Given the description of an element on the screen output the (x, y) to click on. 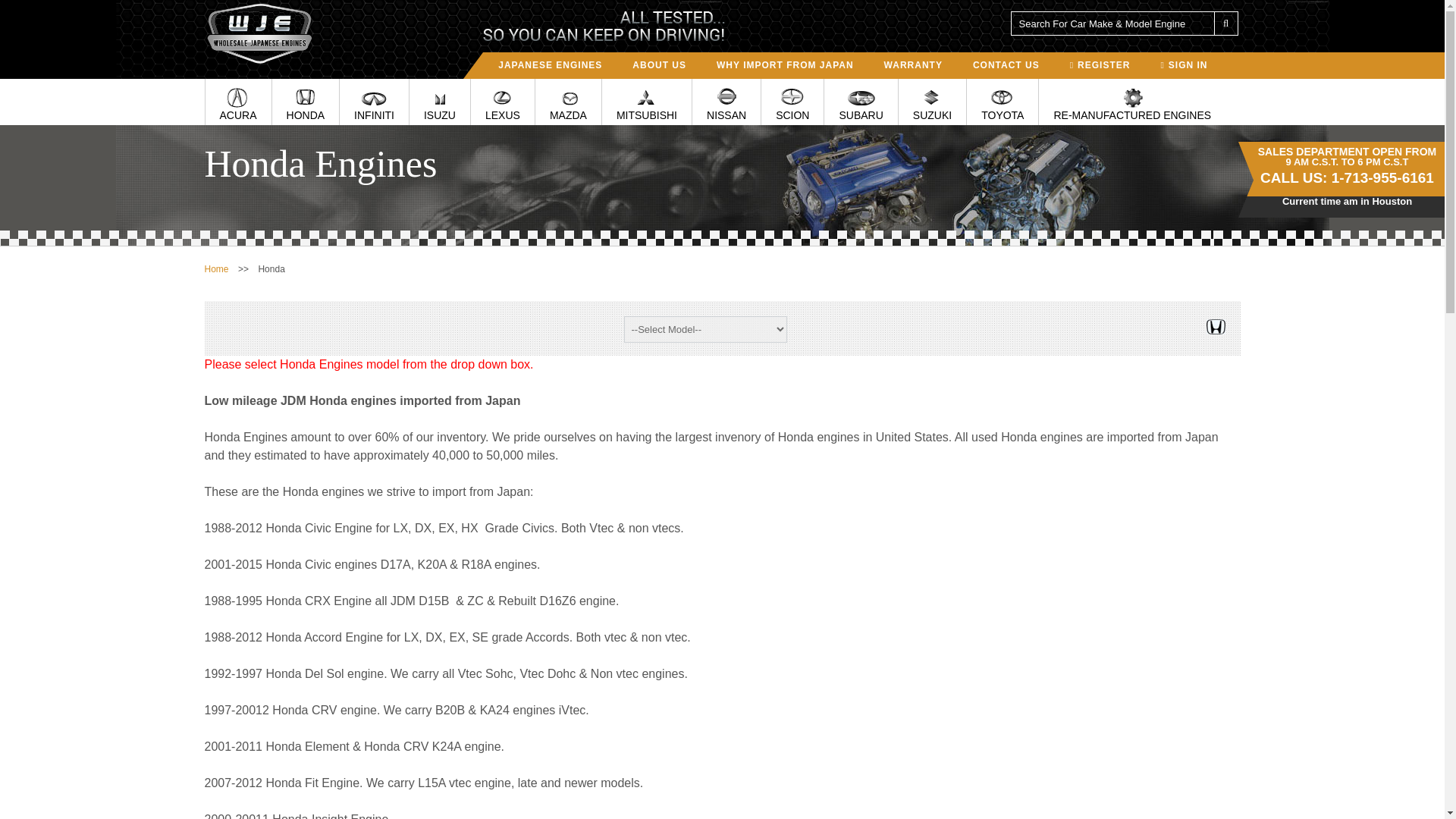
Isuzu Engines (439, 101)
WARRANTY (913, 64)
LEXUS (502, 101)
TOYOTA (1002, 101)
REGISTER (1100, 64)
MAZDA (568, 101)
SUBARU (860, 101)
Honda Engines (305, 101)
RE-MANUFACTURED ENGINES (1132, 101)
Japanese Engines (550, 64)
ABOUT US (659, 64)
Toyota Engines (1002, 101)
Subaru Engines (860, 101)
INFINITI (374, 101)
Remanufactured Engines (1132, 101)
